Given the description of an element on the screen output the (x, y) to click on. 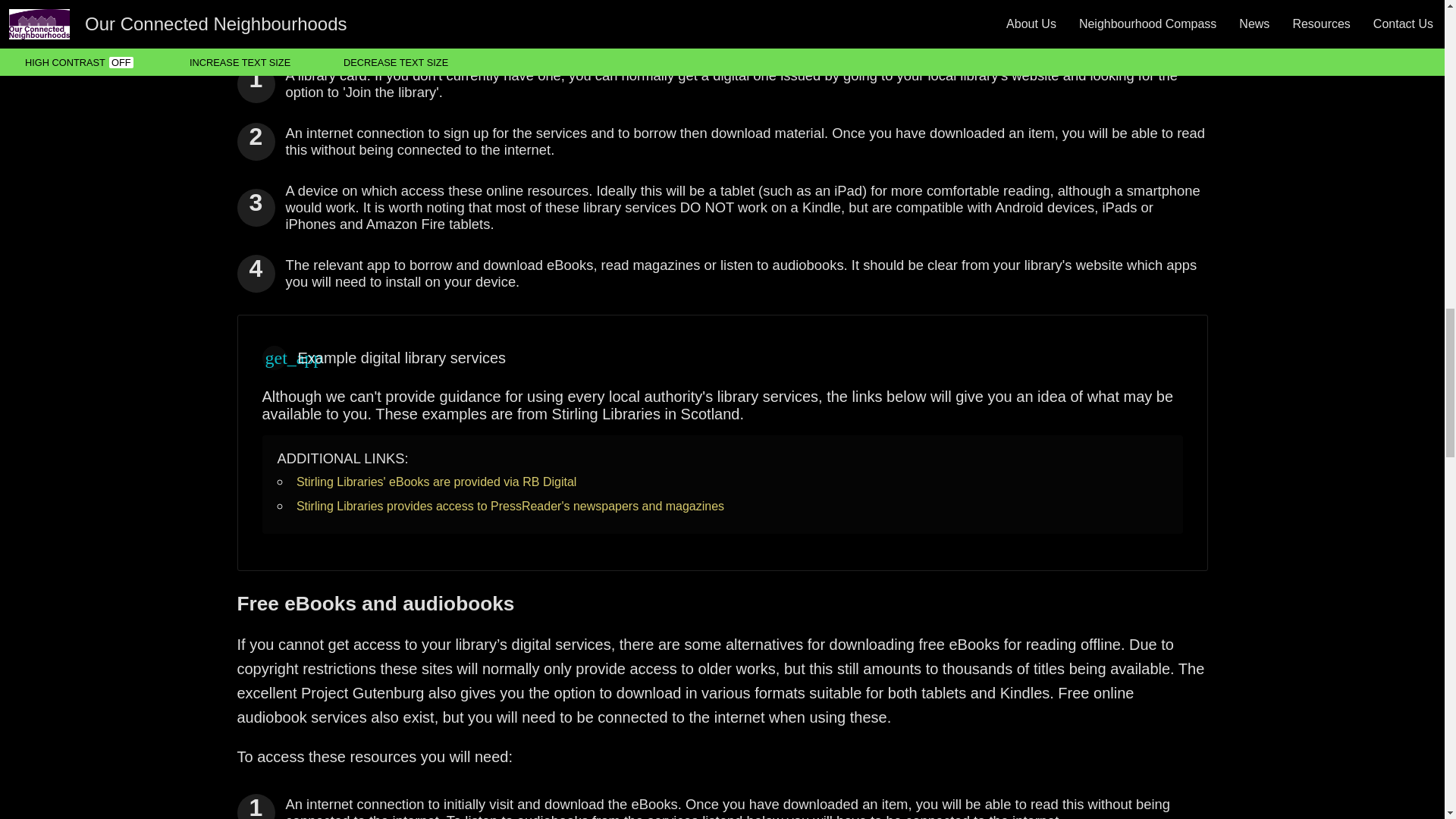
Stirling Libraries' eBooks are provided via RB Digital (436, 482)
